Given the description of an element on the screen output the (x, y) to click on. 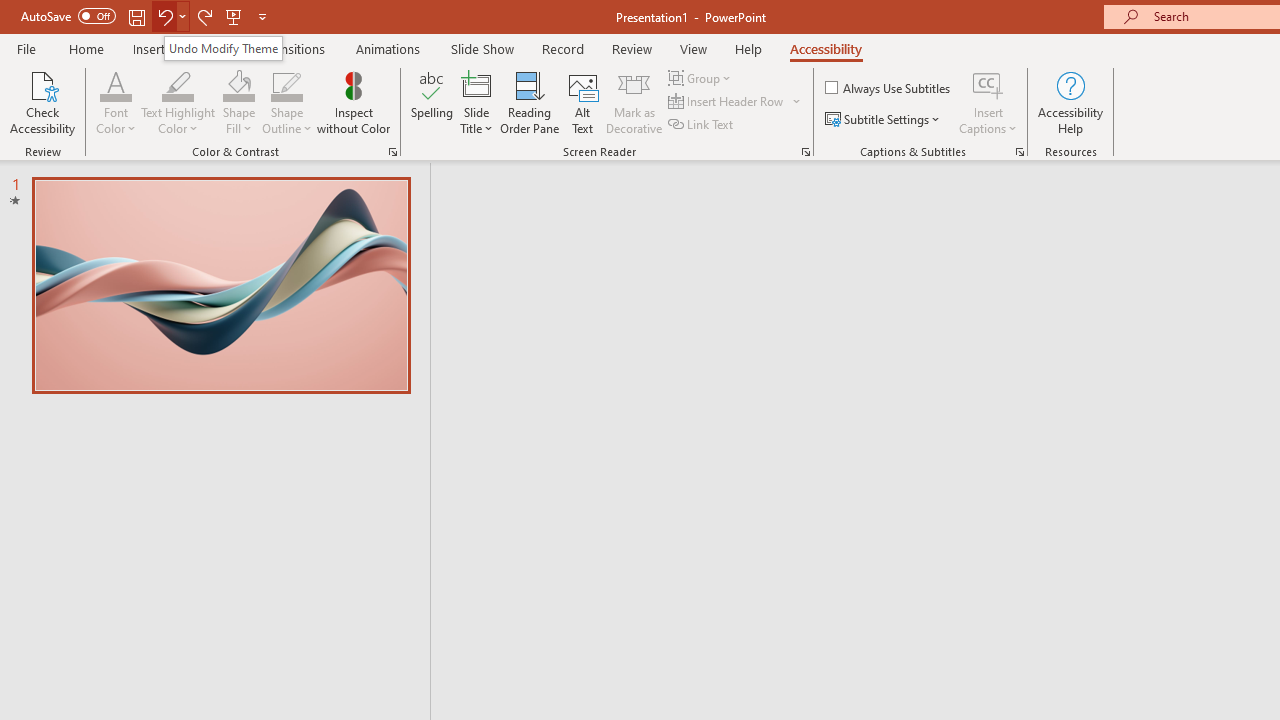
Captions & Subtitles (1019, 151)
Reading Order Pane (529, 102)
Link Text (702, 124)
Insert Header Row (727, 101)
